Given the description of an element on the screen output the (x, y) to click on. 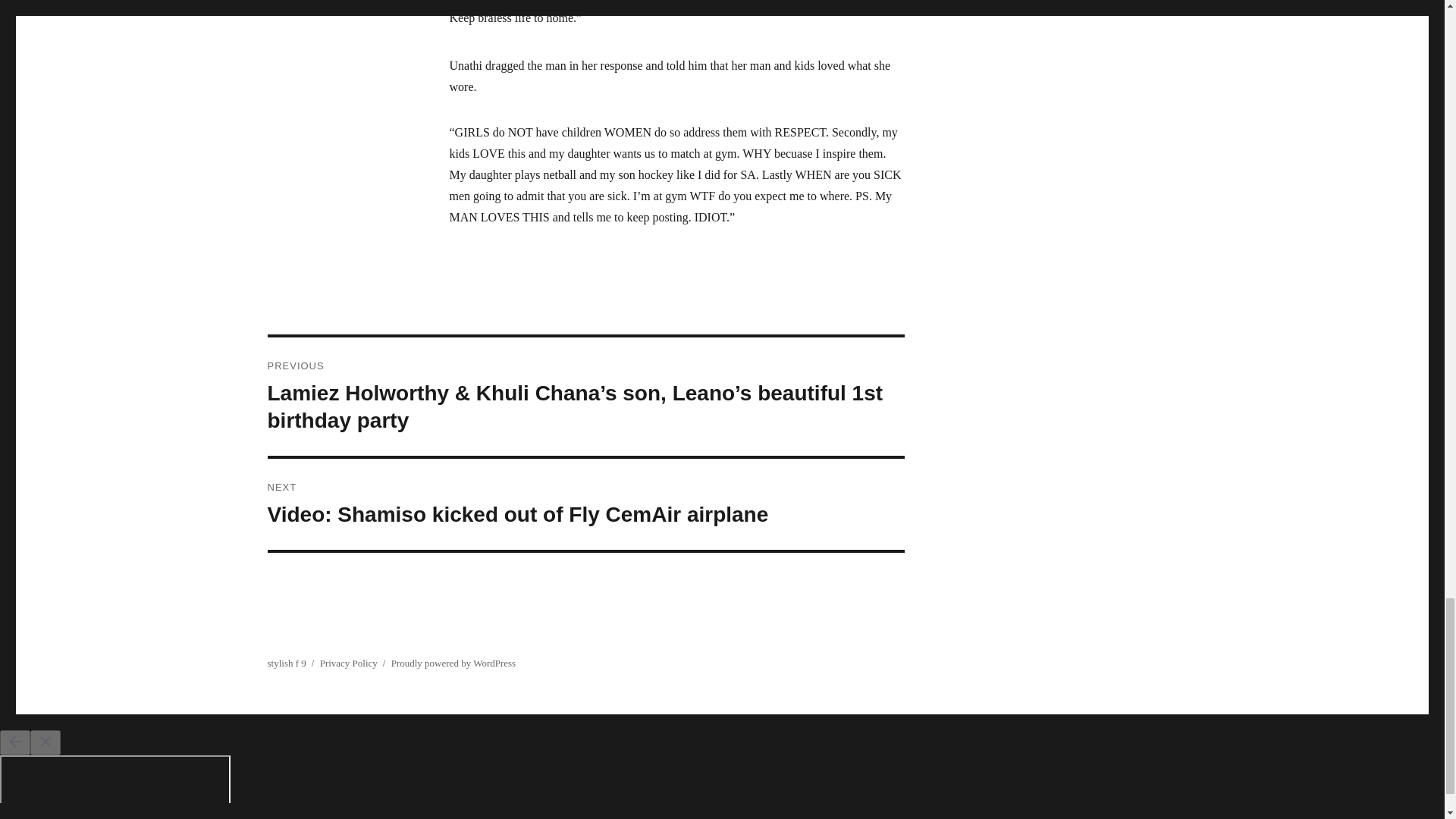
stylish f 9 (285, 663)
Proudly powered by WordPress (453, 663)
Privacy Policy (348, 663)
